Given the description of an element on the screen output the (x, y) to click on. 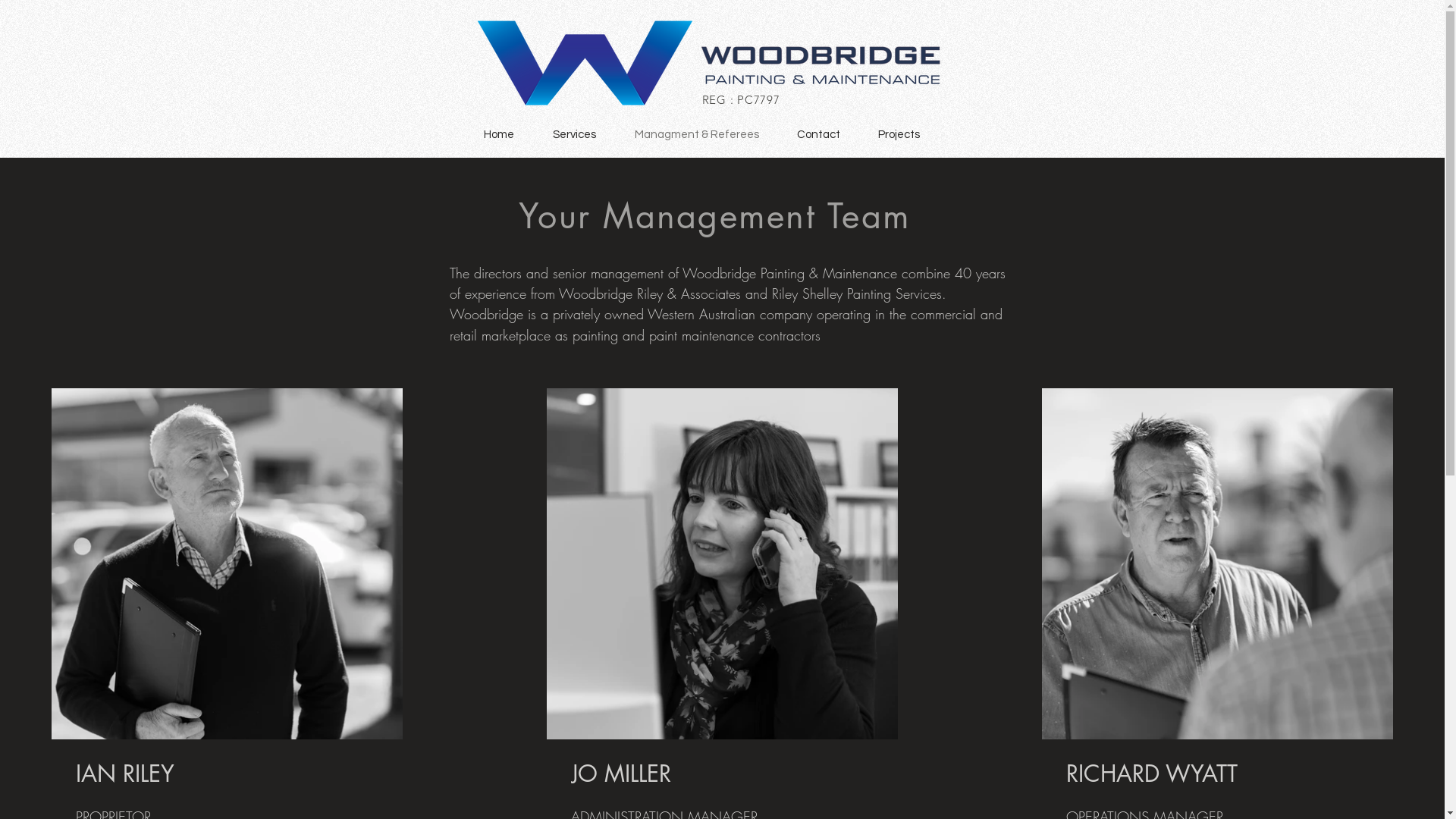
Managment & Referees Element type: text (696, 134)
Services Element type: text (574, 134)
Projects Element type: text (898, 134)
Home Element type: text (498, 134)
Contact Element type: text (818, 134)
